Given the description of an element on the screen output the (x, y) to click on. 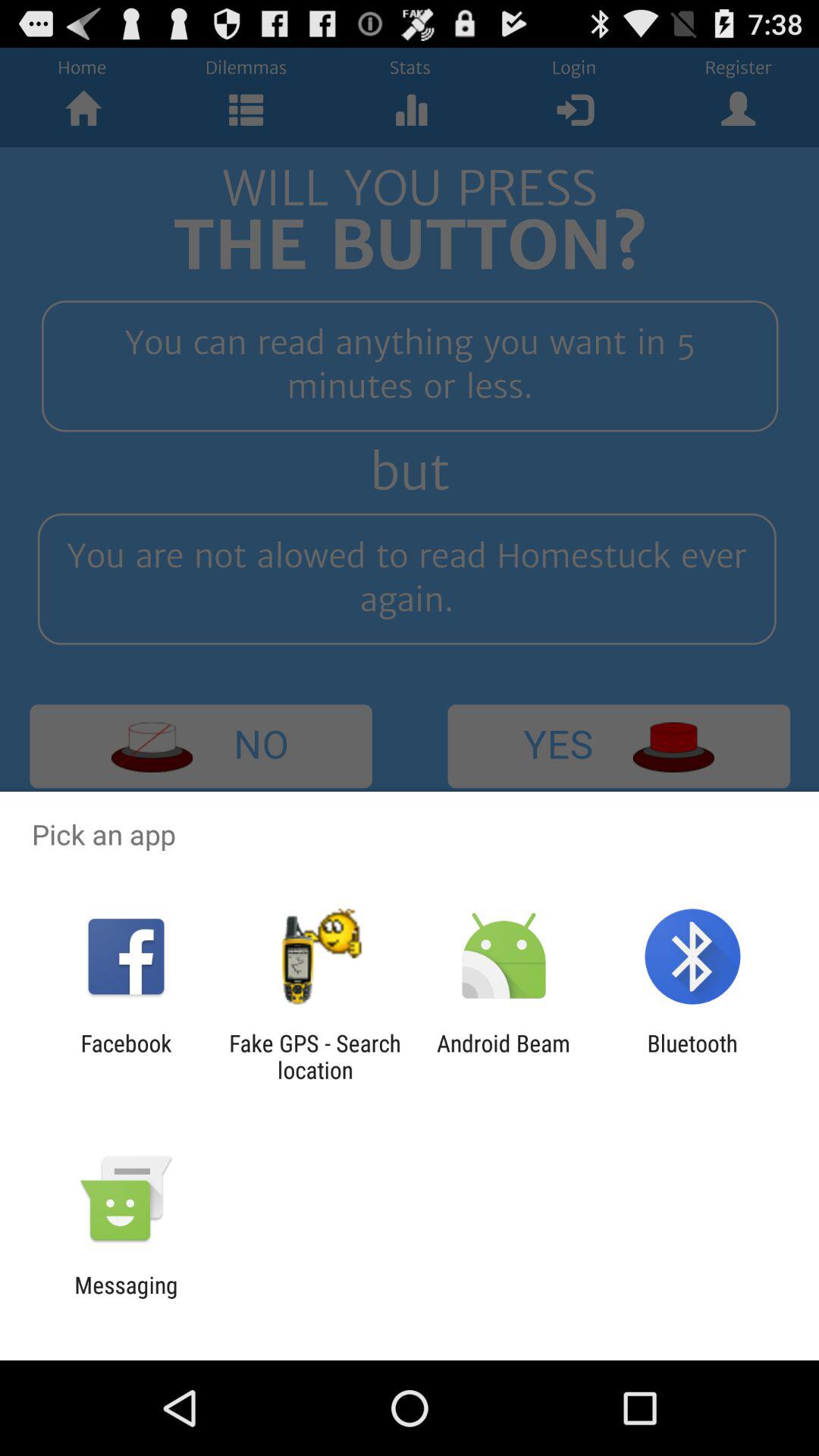
jump until the bluetooth (692, 1056)
